Given the description of an element on the screen output the (x, y) to click on. 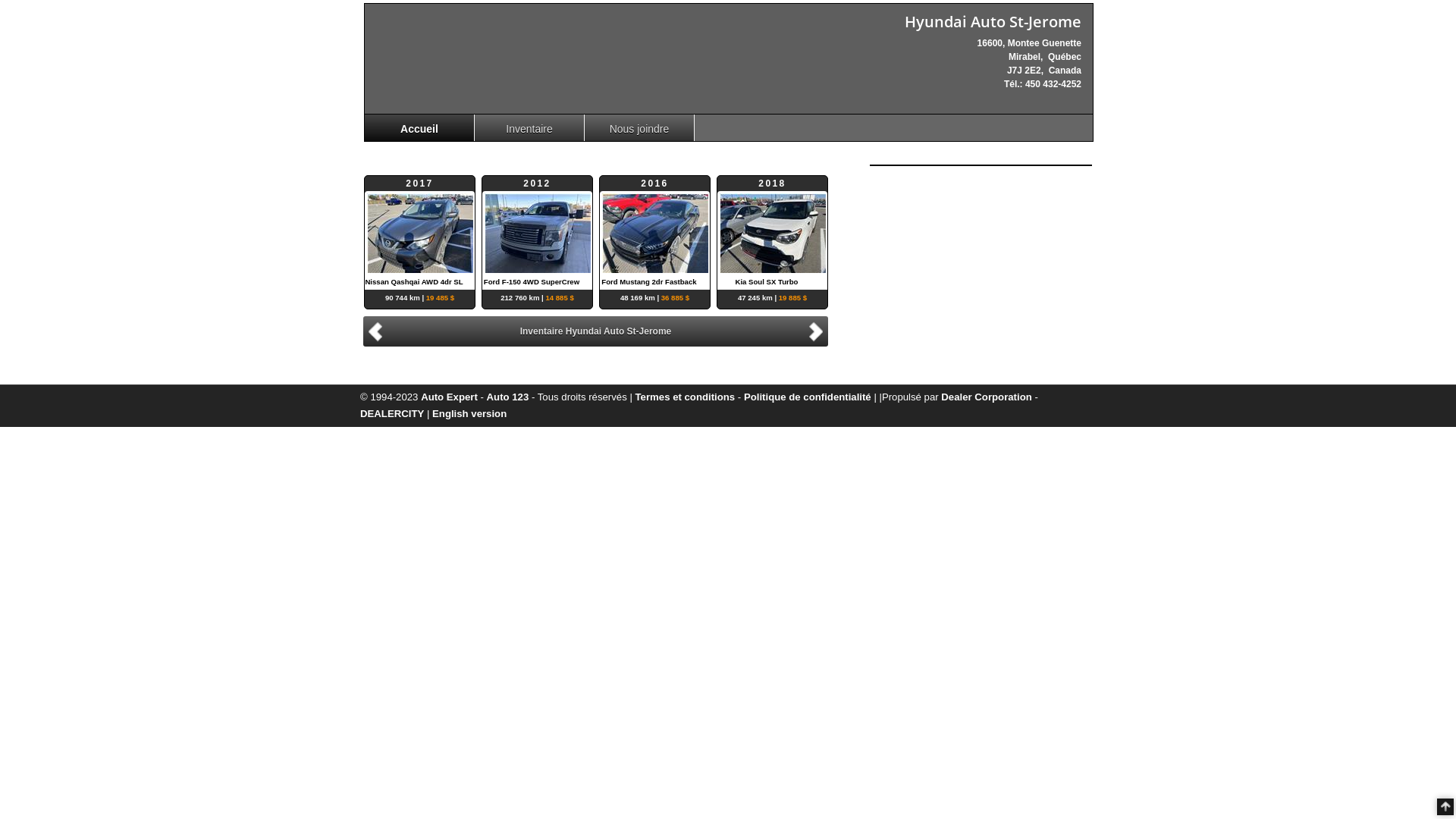
Termes et conditions Element type: text (685, 396)
Nous joindre Element type: text (639, 127)
Accueil Element type: text (419, 127)
DEALERCITY Element type: text (391, 413)
Dealer Corporation Element type: text (986, 396)
Auto Expert Element type: text (448, 396)
Suivant Element type: hover (818, 329)
Auto 123 Element type: text (507, 396)
English version Element type: text (469, 413)
Inventaire Element type: text (529, 127)
